Given the description of an element on the screen output the (x, y) to click on. 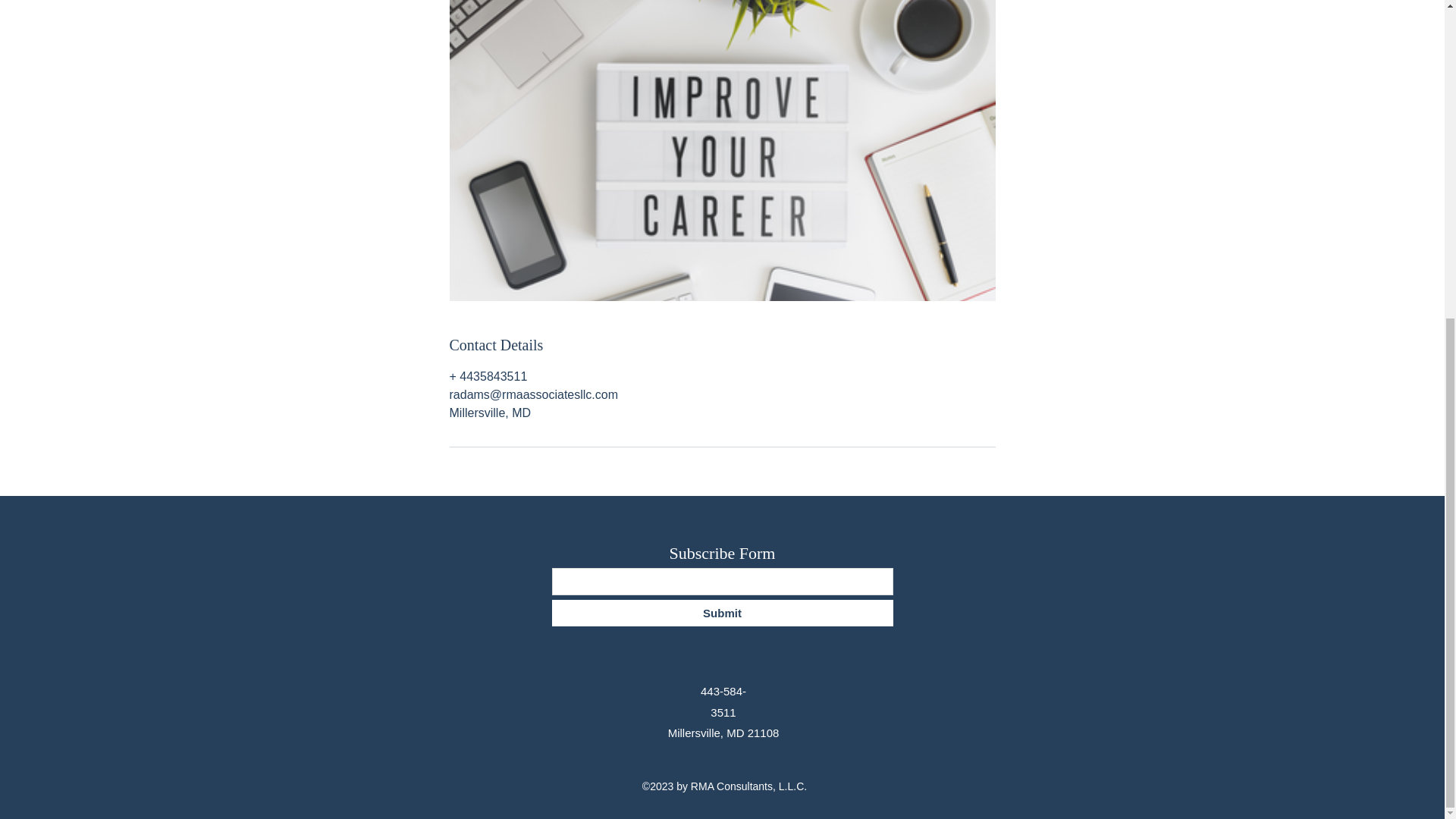
Submit (722, 612)
